Given the description of an element on the screen output the (x, y) to click on. 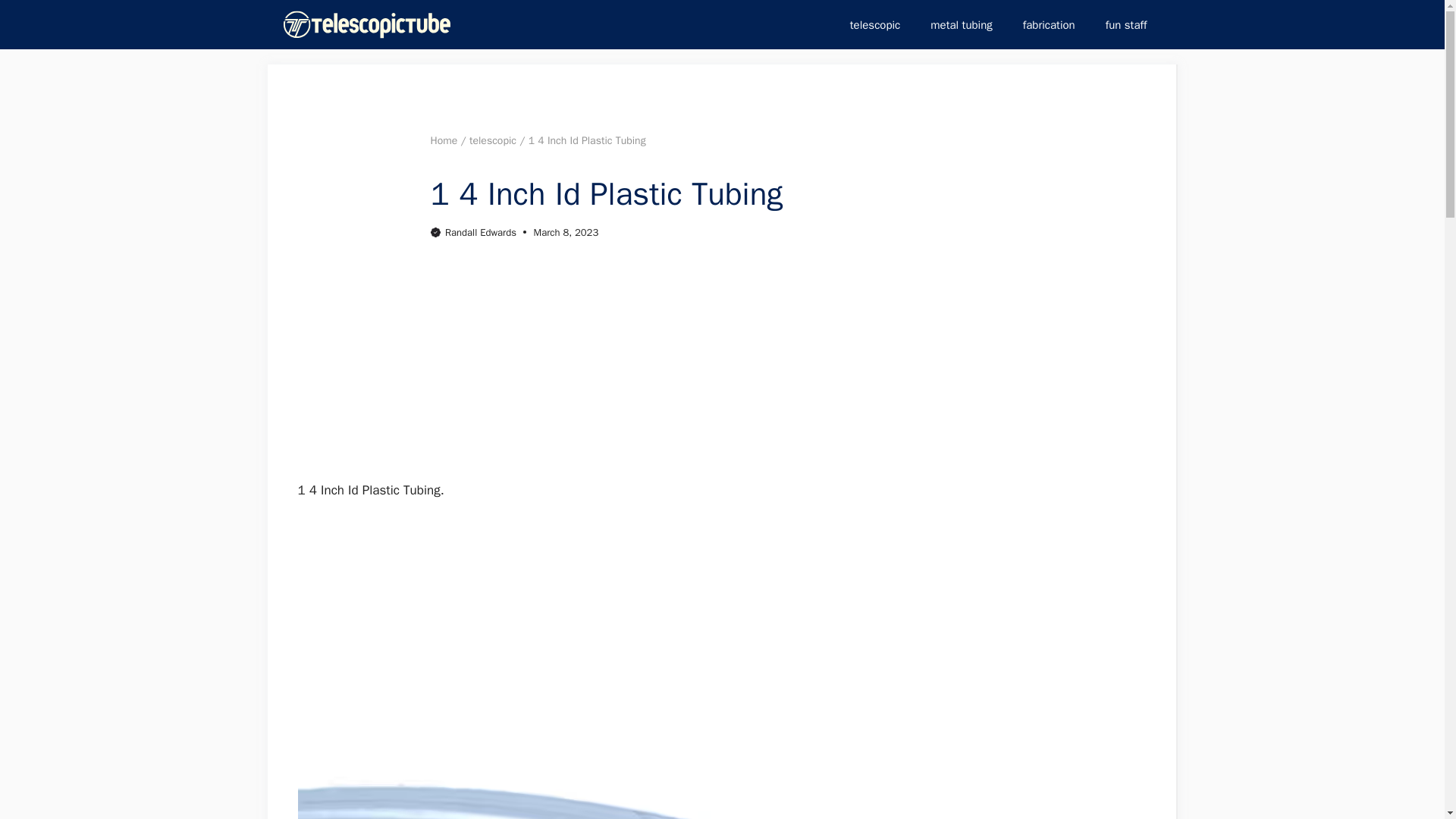
telescopic (492, 140)
Telescopic Tube (367, 24)
Home (444, 140)
Randall Edwards (480, 232)
fun staff (1125, 23)
fabrication (1048, 23)
metal tubing (961, 23)
telescopic (874, 23)
